Given the description of an element on the screen output the (x, y) to click on. 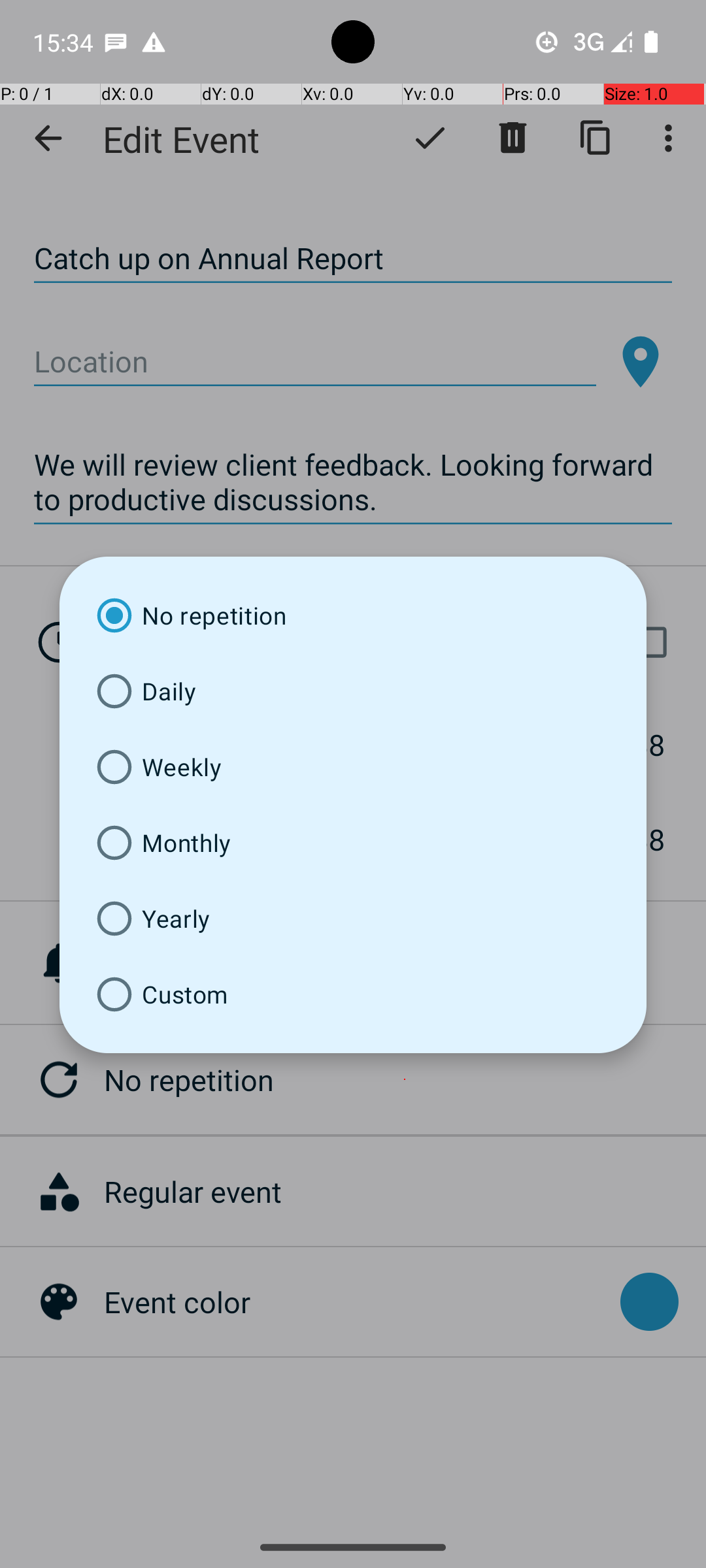
Daily Element type: android.widget.RadioButton (352, 691)
Weekly Element type: android.widget.RadioButton (352, 766)
Monthly Element type: android.widget.RadioButton (352, 842)
Yearly Element type: android.widget.RadioButton (352, 918)
Custom Element type: android.widget.RadioButton (352, 994)
